Given the description of an element on the screen output the (x, y) to click on. 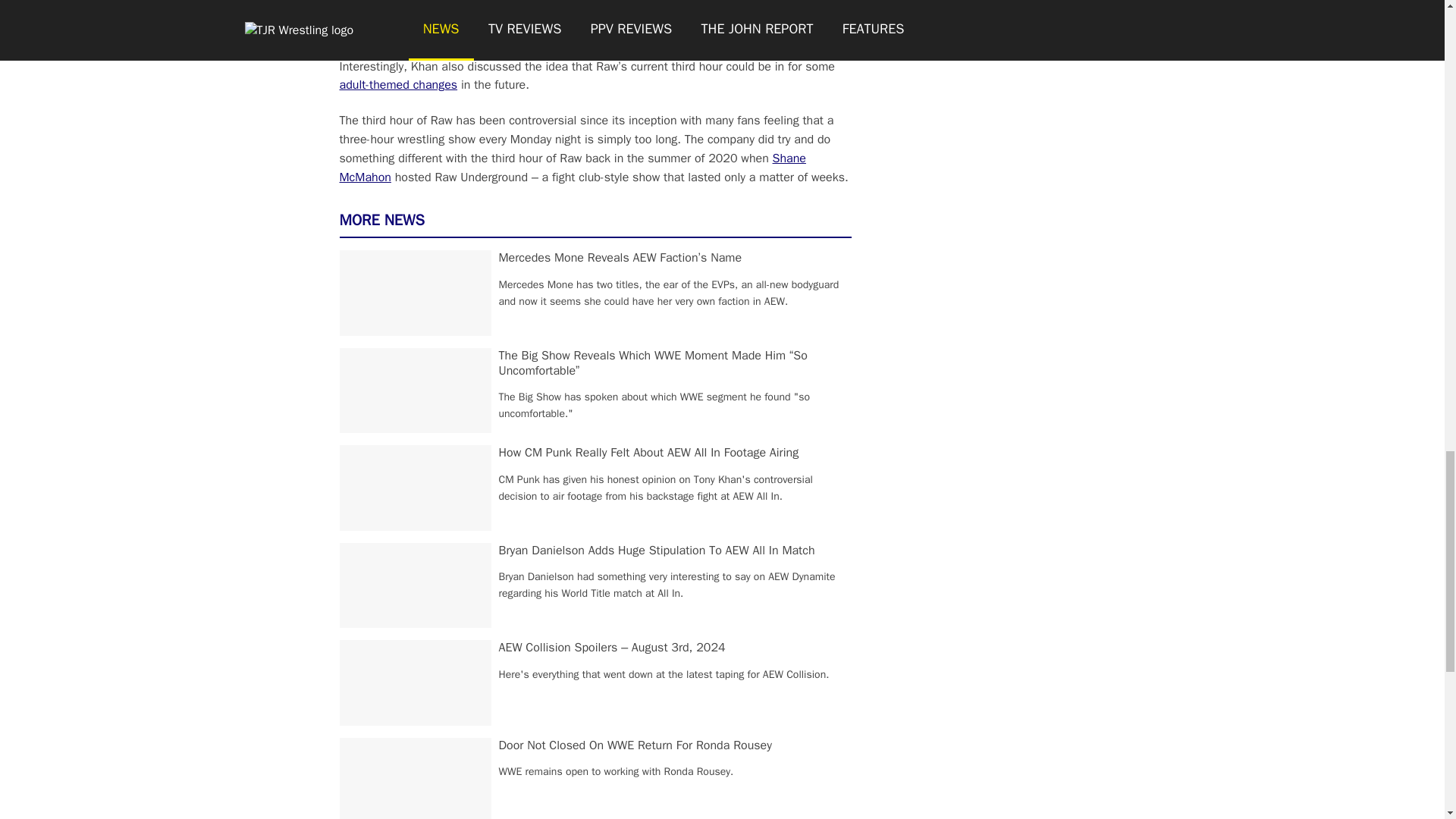
Shane McMahon (572, 167)
How CM Punk Really Felt About AEW All In Footage Airing (649, 452)
Bryan Danielson Adds Huge Stipulation To AEW All In Match (657, 549)
adult-themed changes (398, 84)
Door Not Closed On WWE Return For Ronda Rousey (635, 744)
